Given the description of an element on the screen output the (x, y) to click on. 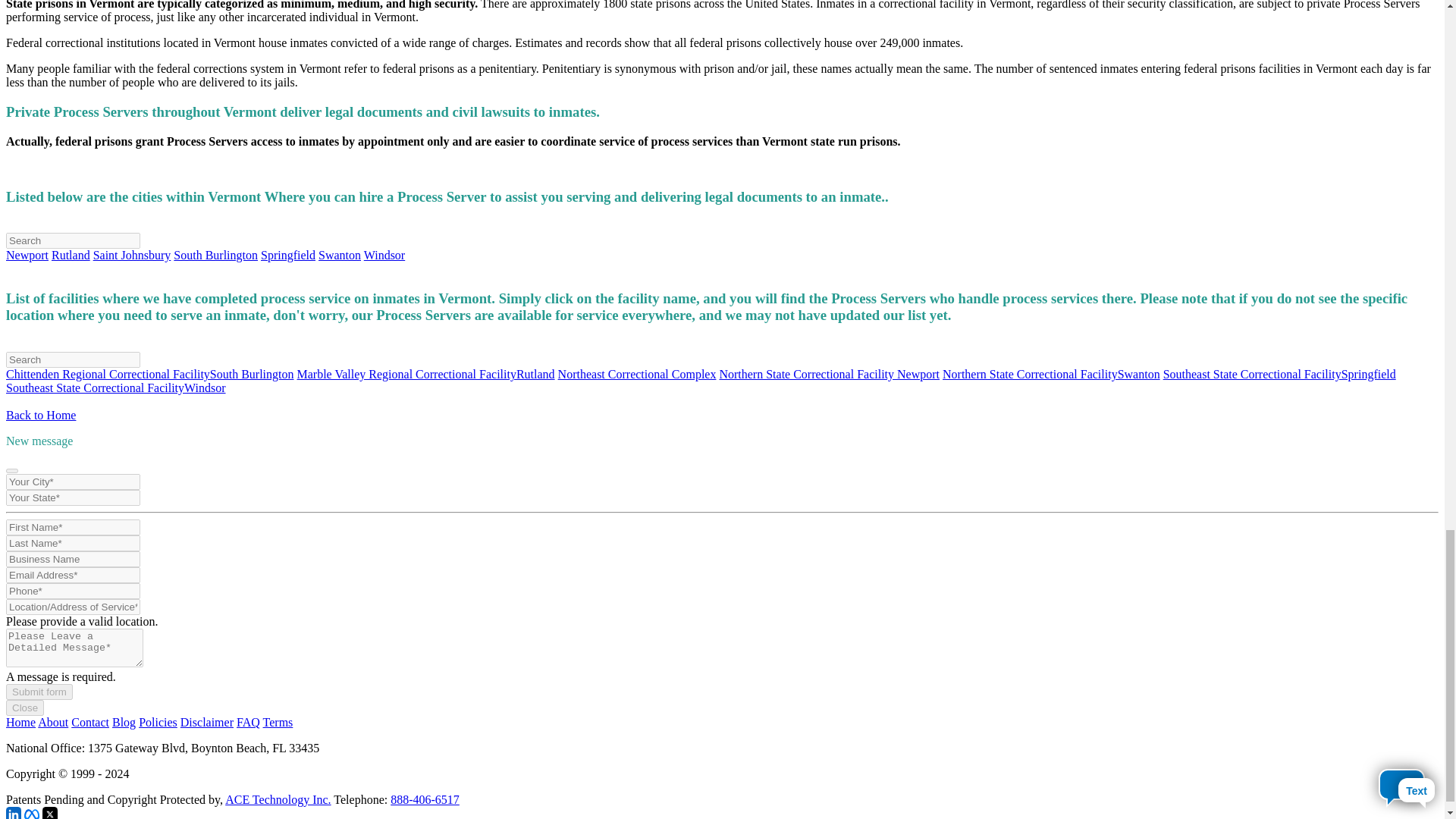
South Burlington (215, 254)
Rutland (70, 254)
Southeast State Correctional FacilityWindsor (115, 387)
Northern State Correctional Facility Newport (829, 373)
Southeast State Correctional FacilitySpringfield (1279, 373)
Saint Johnsbury (132, 254)
Swanton (339, 254)
Northern State Correctional FacilitySwanton (1051, 373)
Submit form (38, 691)
Newport (26, 254)
